Given the description of an element on the screen output the (x, y) to click on. 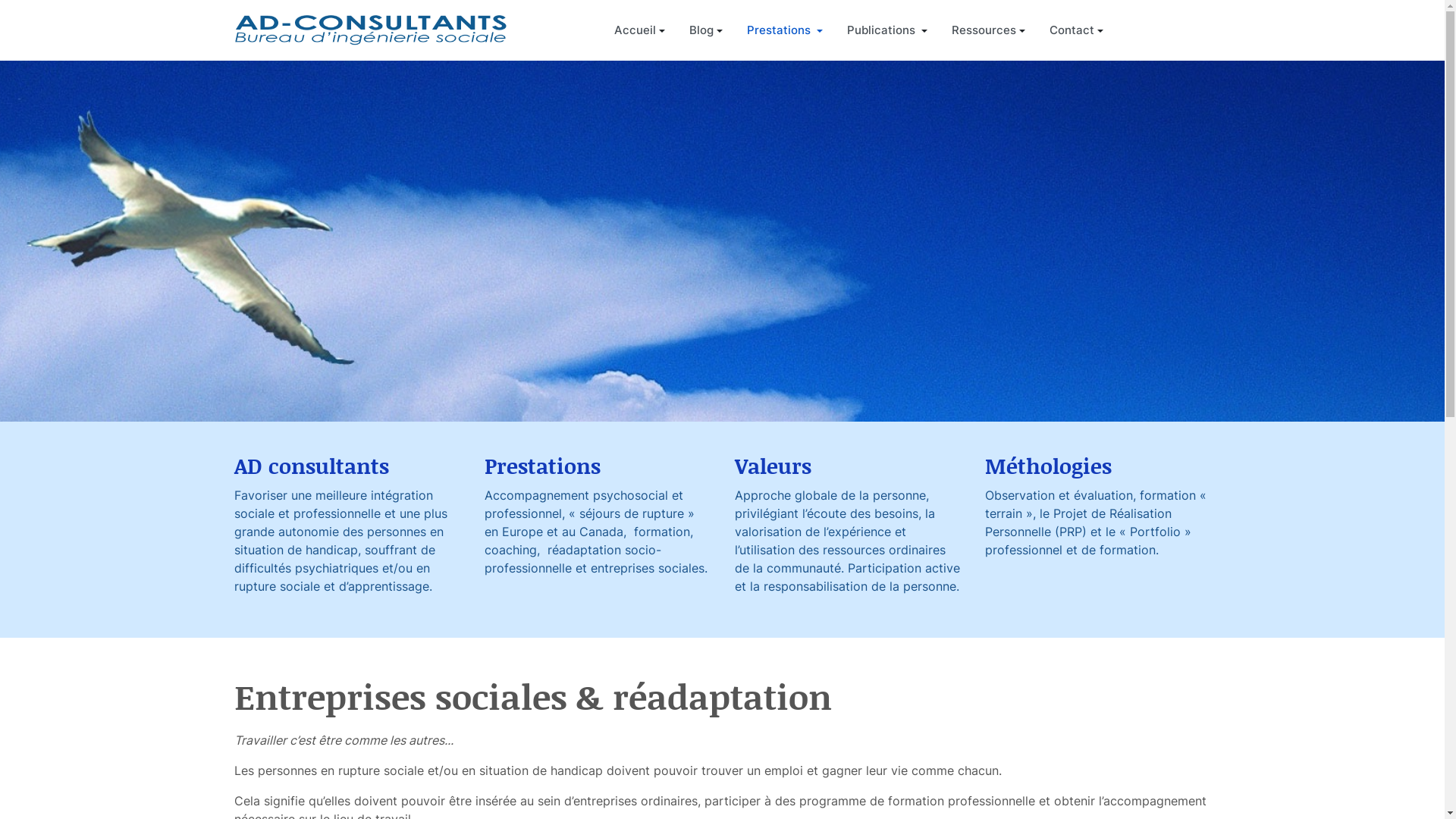
Accueil Element type: text (639, 30)
AD Consultants Element type: hover (369, 30)
Ressources Element type: text (988, 30)
Blog Element type: text (705, 30)
Contact Element type: text (1076, 30)
